Given the description of an element on the screen output the (x, y) to click on. 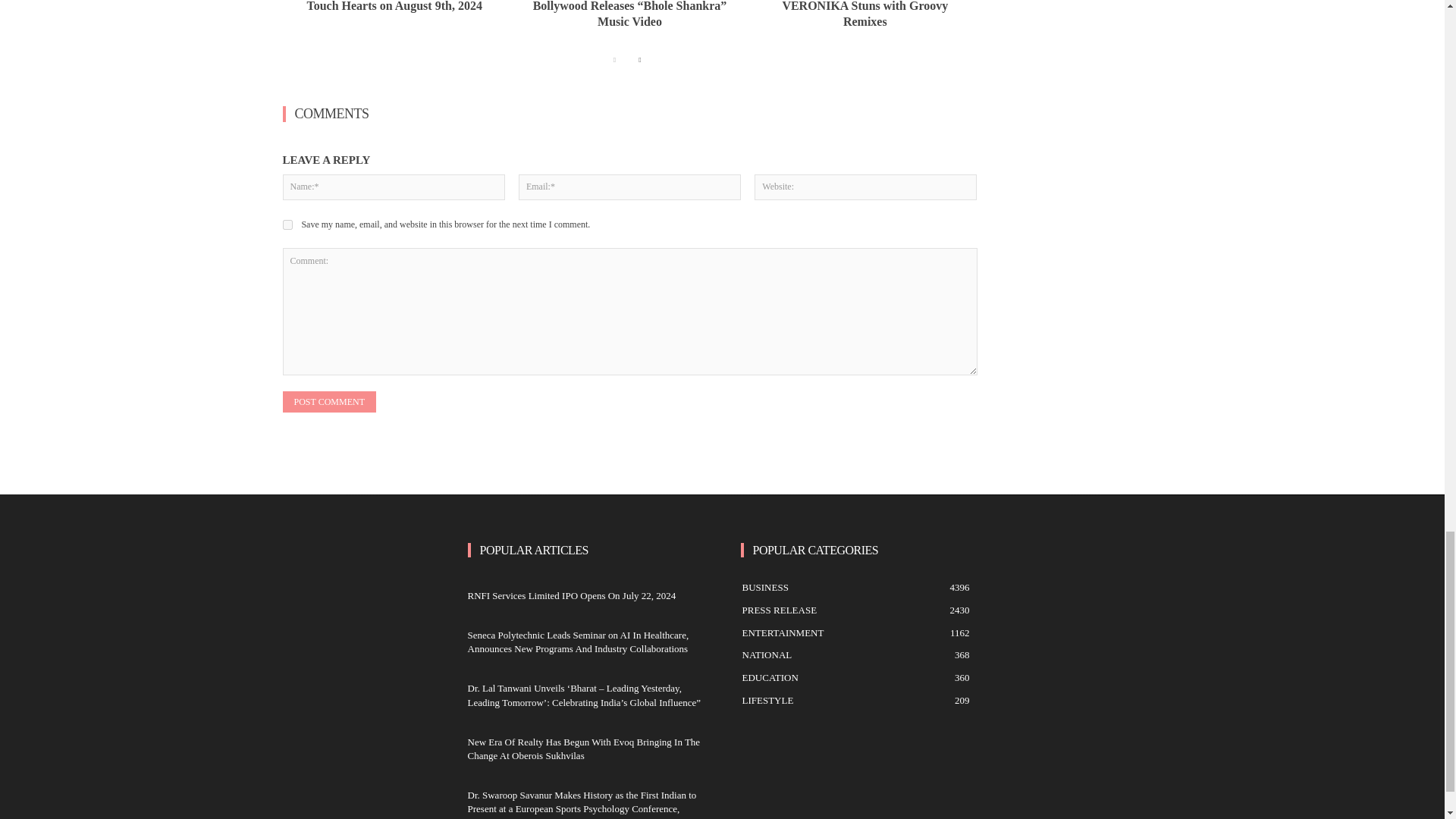
Post Comment (328, 401)
yes (287, 225)
